Given the description of an element on the screen output the (x, y) to click on. 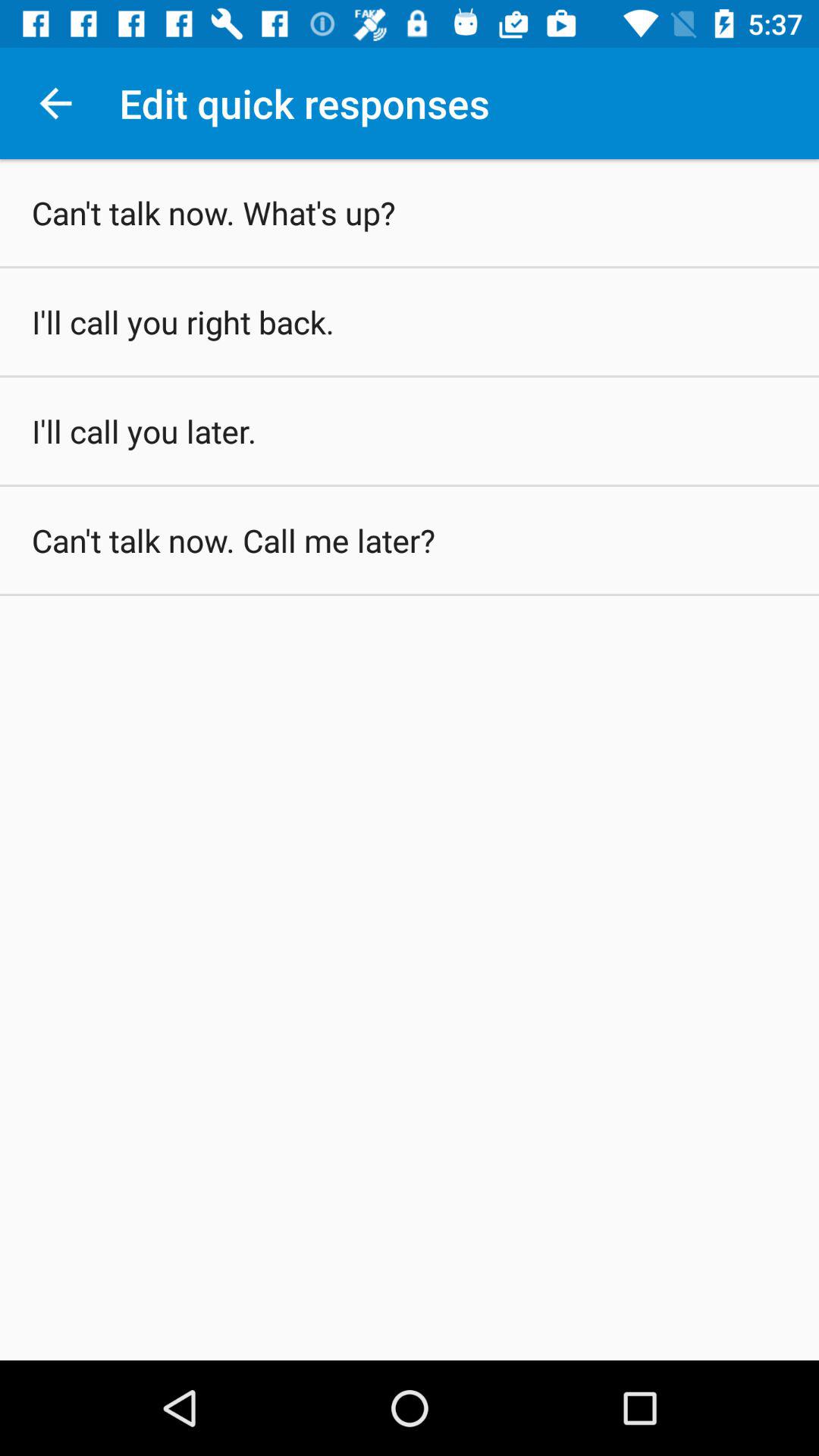
select the item next to edit quick responses (55, 103)
